Given the description of an element on the screen output the (x, y) to click on. 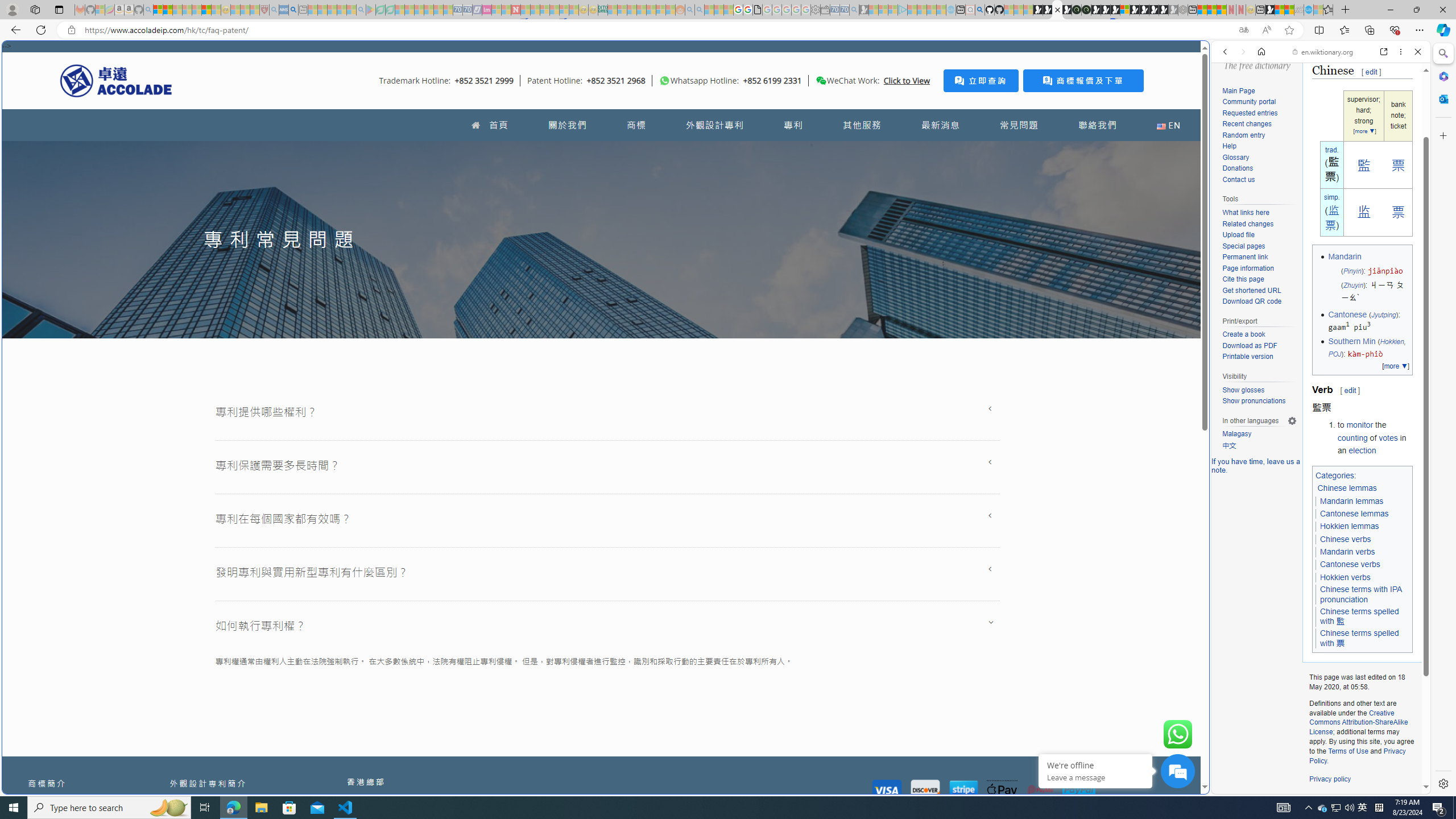
Related changes (1259, 224)
Hokkien (1391, 341)
New Report Confirms 2023 Was Record Hot | Watch - Sleeping (196, 9)
google_privacy_policy_zh-CN.pdf (1118, 683)
To get missing image descriptions, open the context menu. (664, 80)
Printable version (1247, 356)
Search Filter, Search Tools (1350, 129)
Help (1259, 146)
Chinese terms with IPA pronunciation (1361, 594)
